Given the description of an element on the screen output the (x, y) to click on. 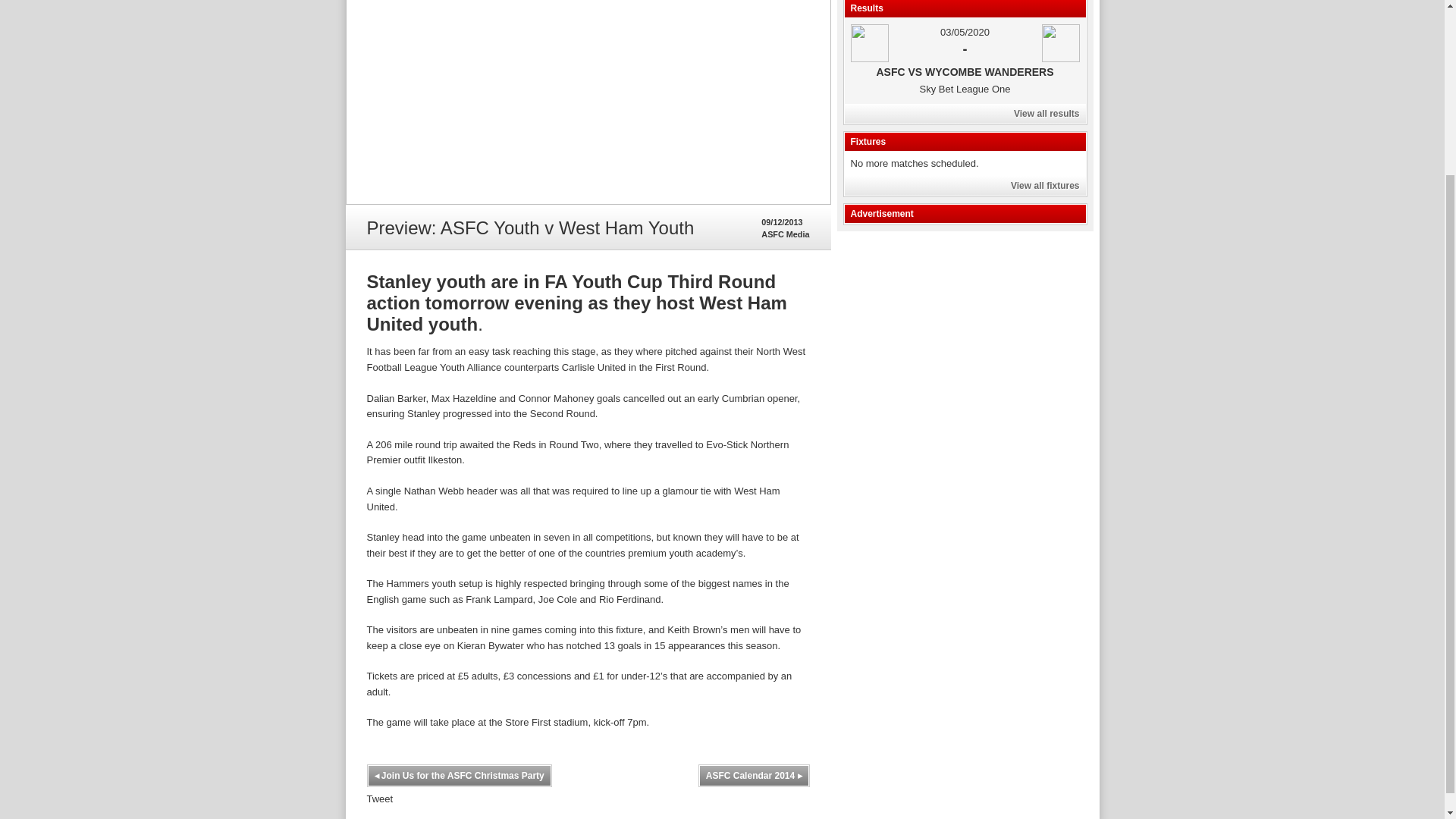
Preview: ASFC Youth v West Ham Youth (588, 102)
Posts by ASFC Media (785, 234)
ASFC (869, 43)
Wycombe Wanderers (1061, 43)
